Given the description of an element on the screen output the (x, y) to click on. 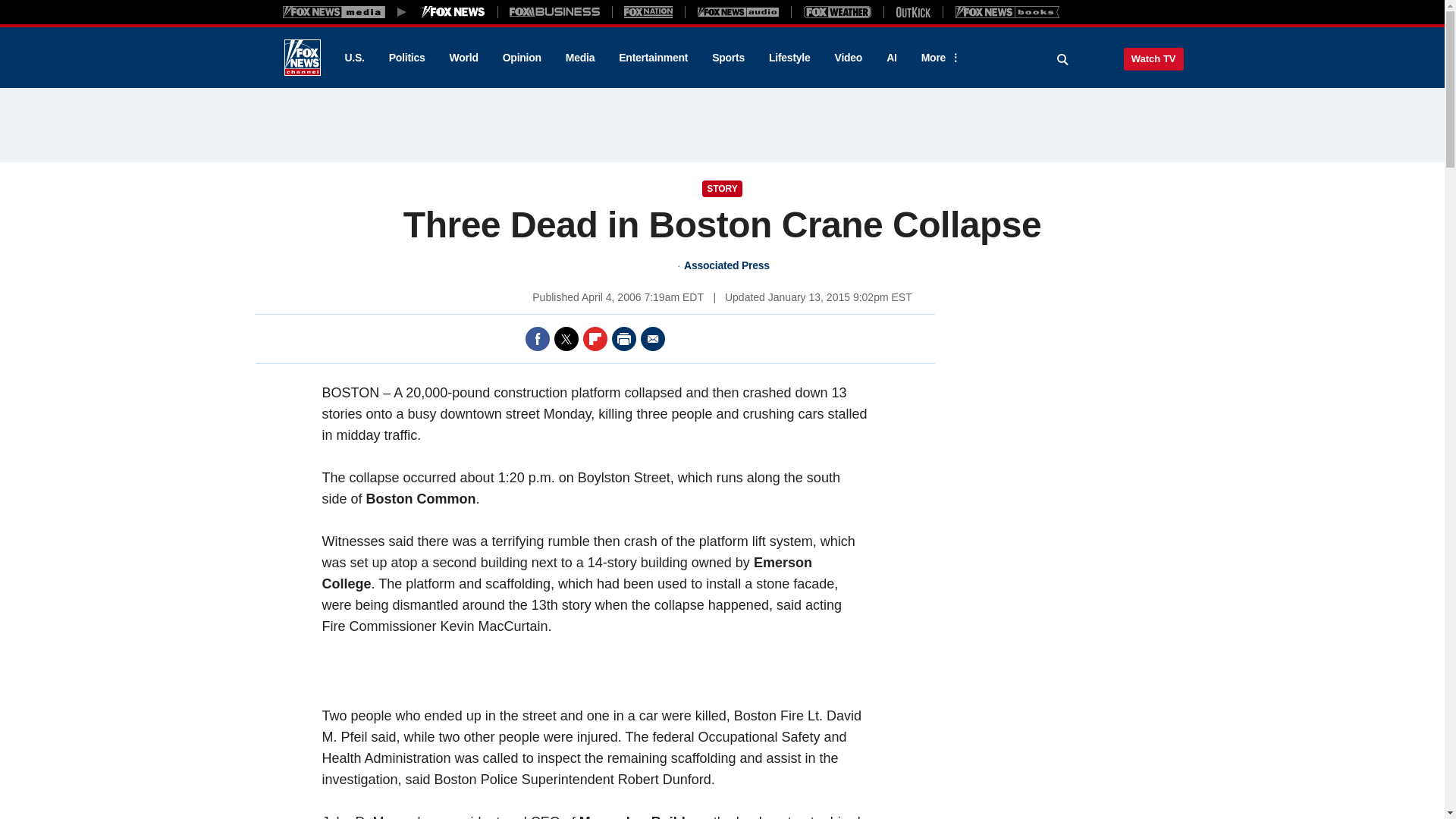
Books (1007, 11)
Fox Business (554, 11)
Fox Weather (836, 11)
Media (580, 57)
U.S. (353, 57)
World (464, 57)
Sports (728, 57)
Politics (407, 57)
Outkick (912, 11)
More (938, 57)
Watch TV (1153, 58)
Video (848, 57)
AI (891, 57)
Fox News Audio (737, 11)
Fox News Media (453, 11)
